Given the description of an element on the screen output the (x, y) to click on. 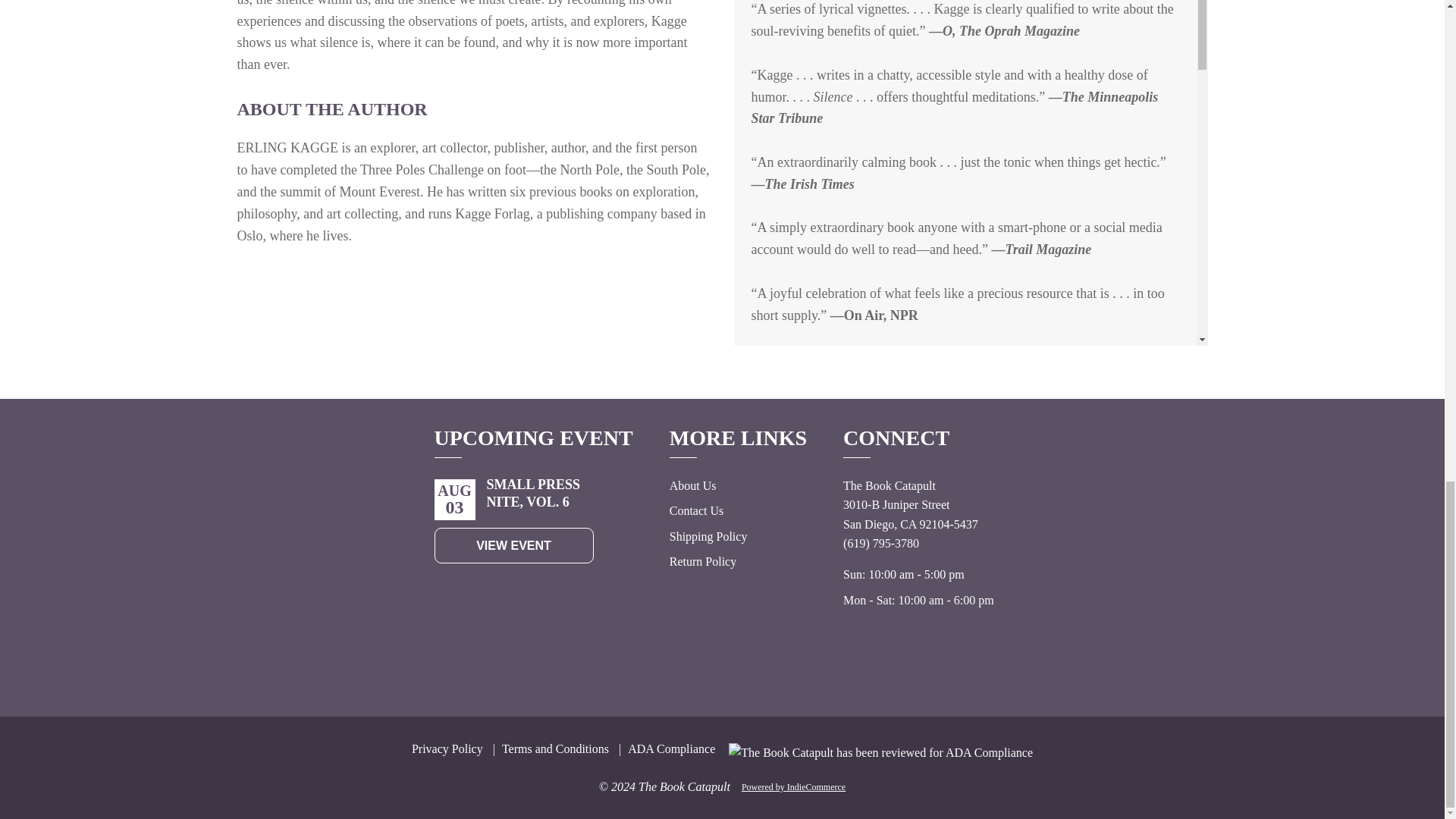
Connect with Instagram (909, 663)
Connect with Facebook (943, 663)
